Given the description of an element on the screen output the (x, y) to click on. 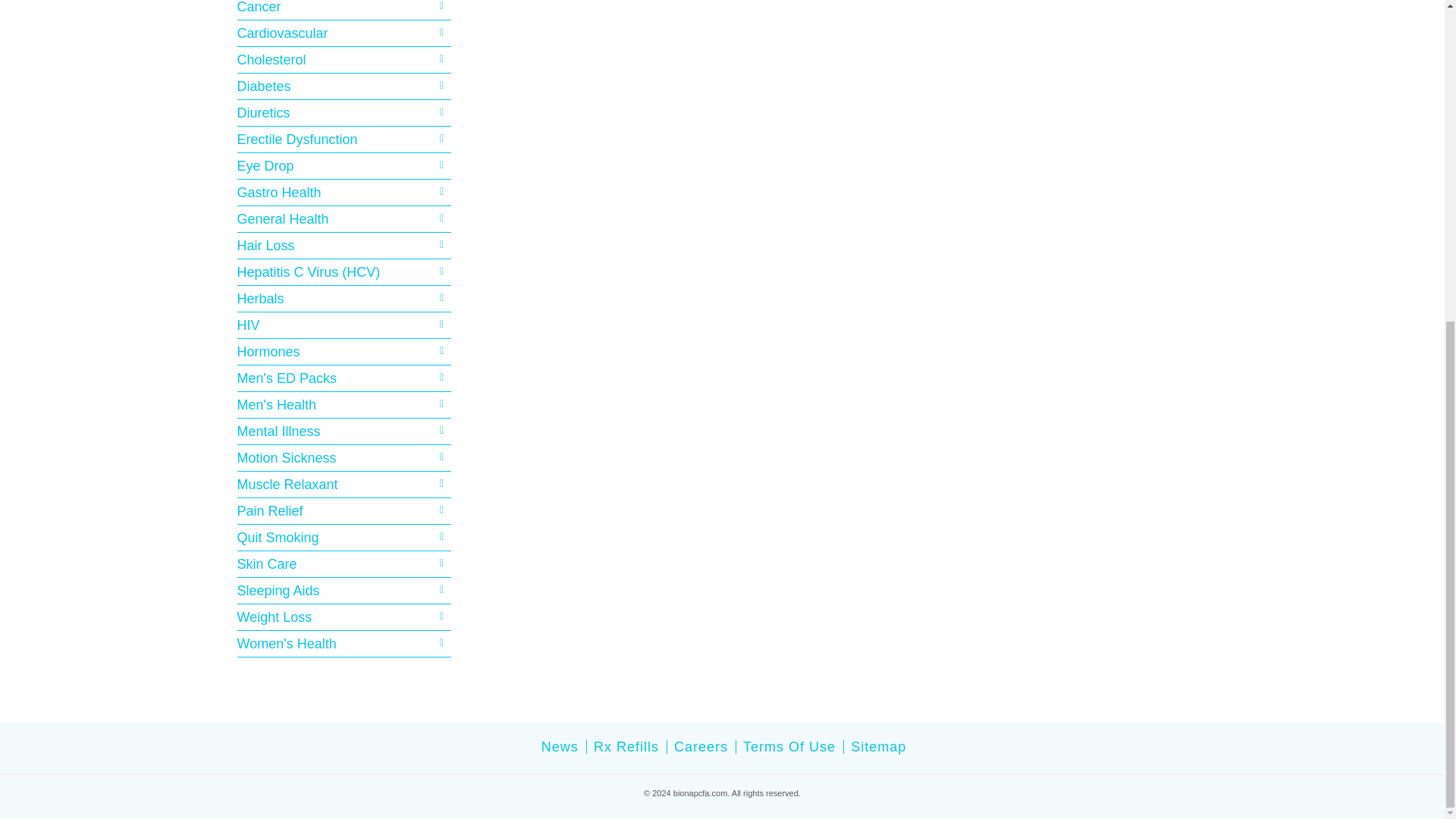
Eye Drop (343, 166)
Cardiovascular (343, 33)
Diabetes (343, 85)
Erectile Dysfunction (343, 139)
Hormones (343, 352)
Herbals (343, 298)
Hair Loss (343, 245)
Cancer (343, 7)
General Health (343, 218)
HIV (343, 325)
Gastro Health (343, 192)
Cholesterol (343, 59)
Diuretics (343, 113)
